Given the description of an element on the screen output the (x, y) to click on. 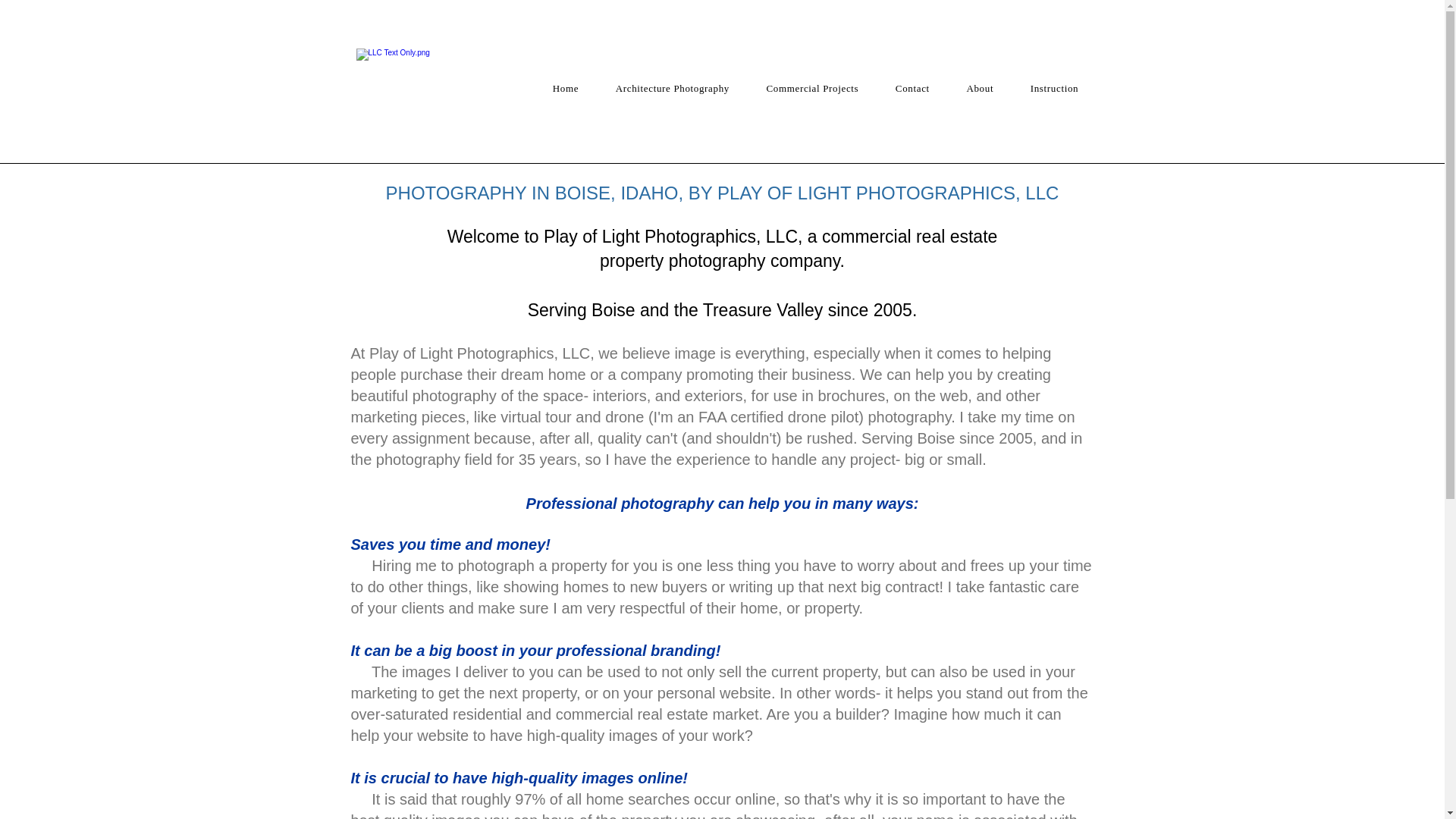
Architecture Photography (671, 89)
Contact (912, 89)
Instruction (1053, 89)
Commercial Projects (812, 89)
Home (565, 89)
About (979, 89)
